Given the description of an element on the screen output the (x, y) to click on. 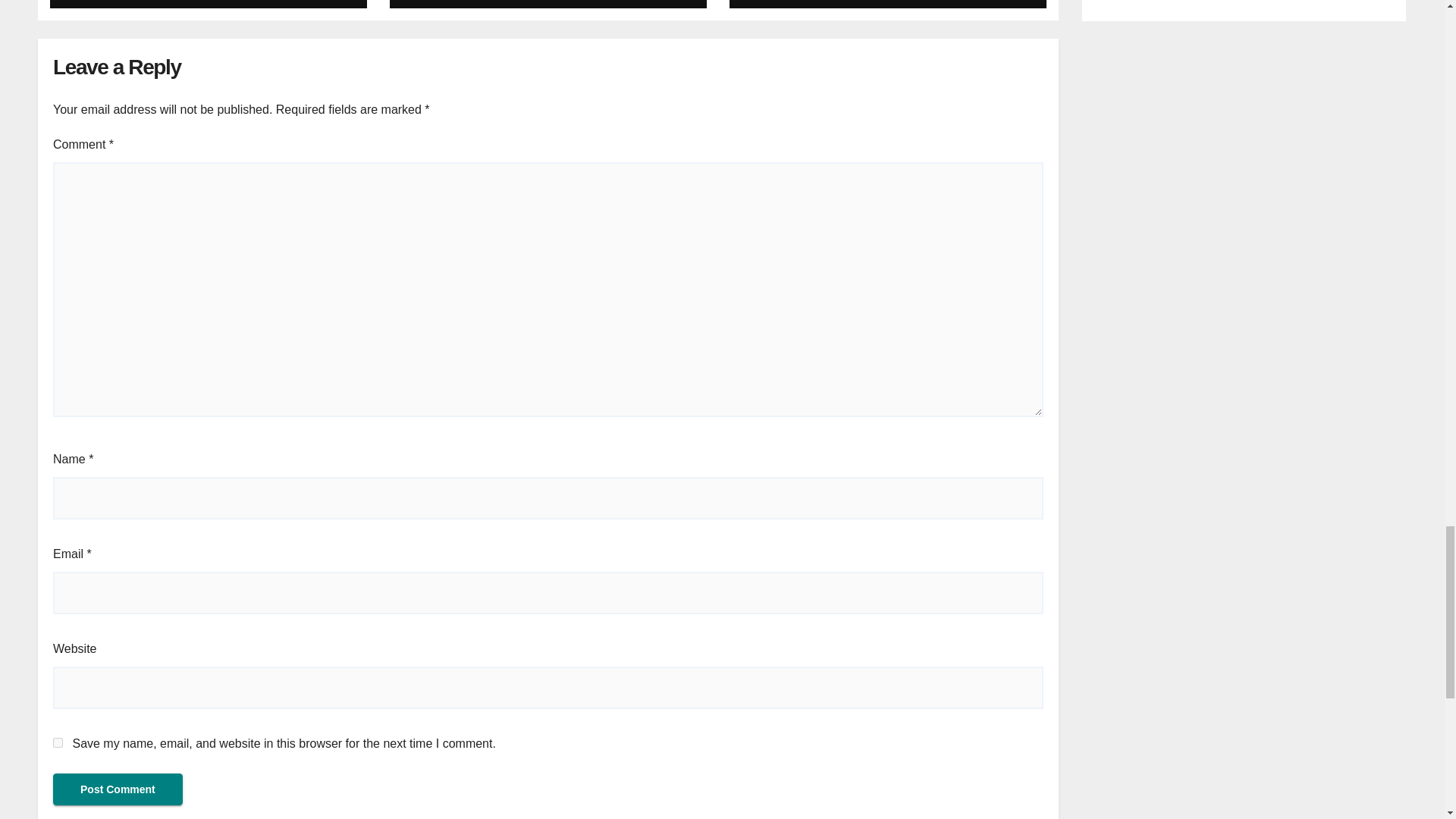
yes (57, 742)
Post Comment (117, 789)
Post Comment (117, 789)
